Given the description of an element on the screen output the (x, y) to click on. 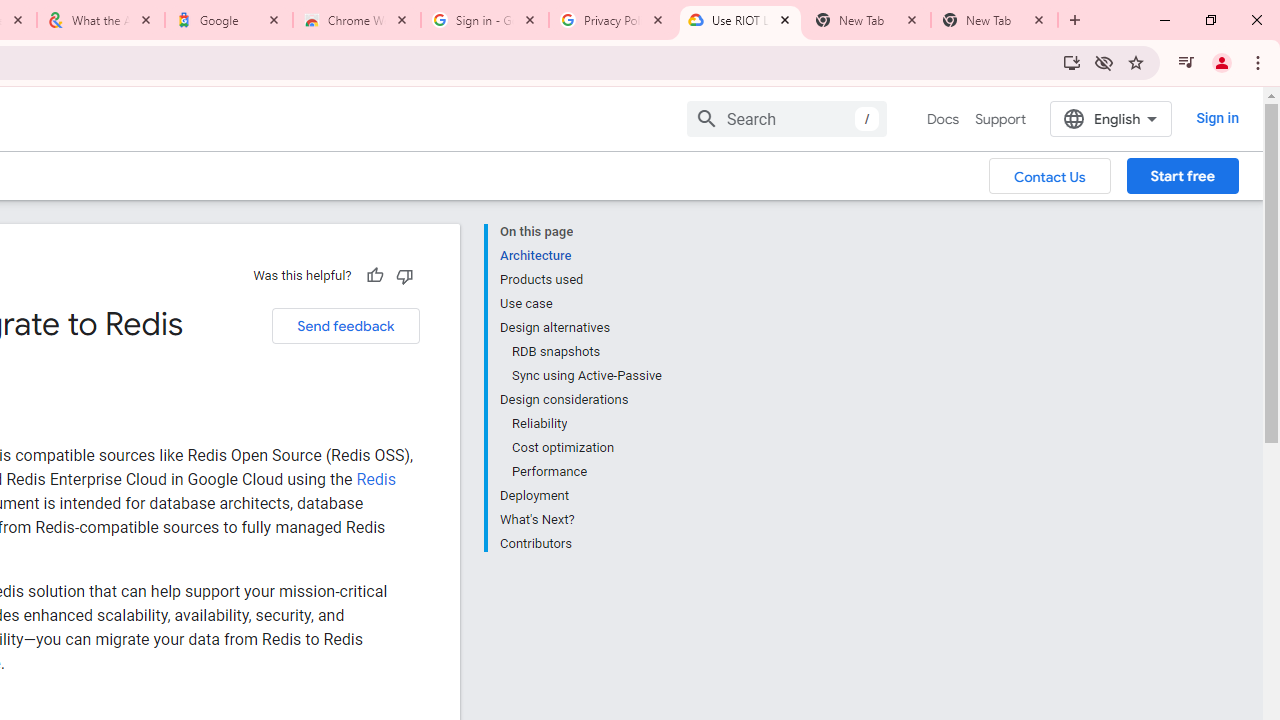
Performance (585, 471)
Products used (580, 279)
RDB snapshots (585, 351)
Contributors (580, 542)
Use case (580, 304)
New Tab (994, 20)
Start free (1182, 175)
